Given the description of an element on the screen output the (x, y) to click on. 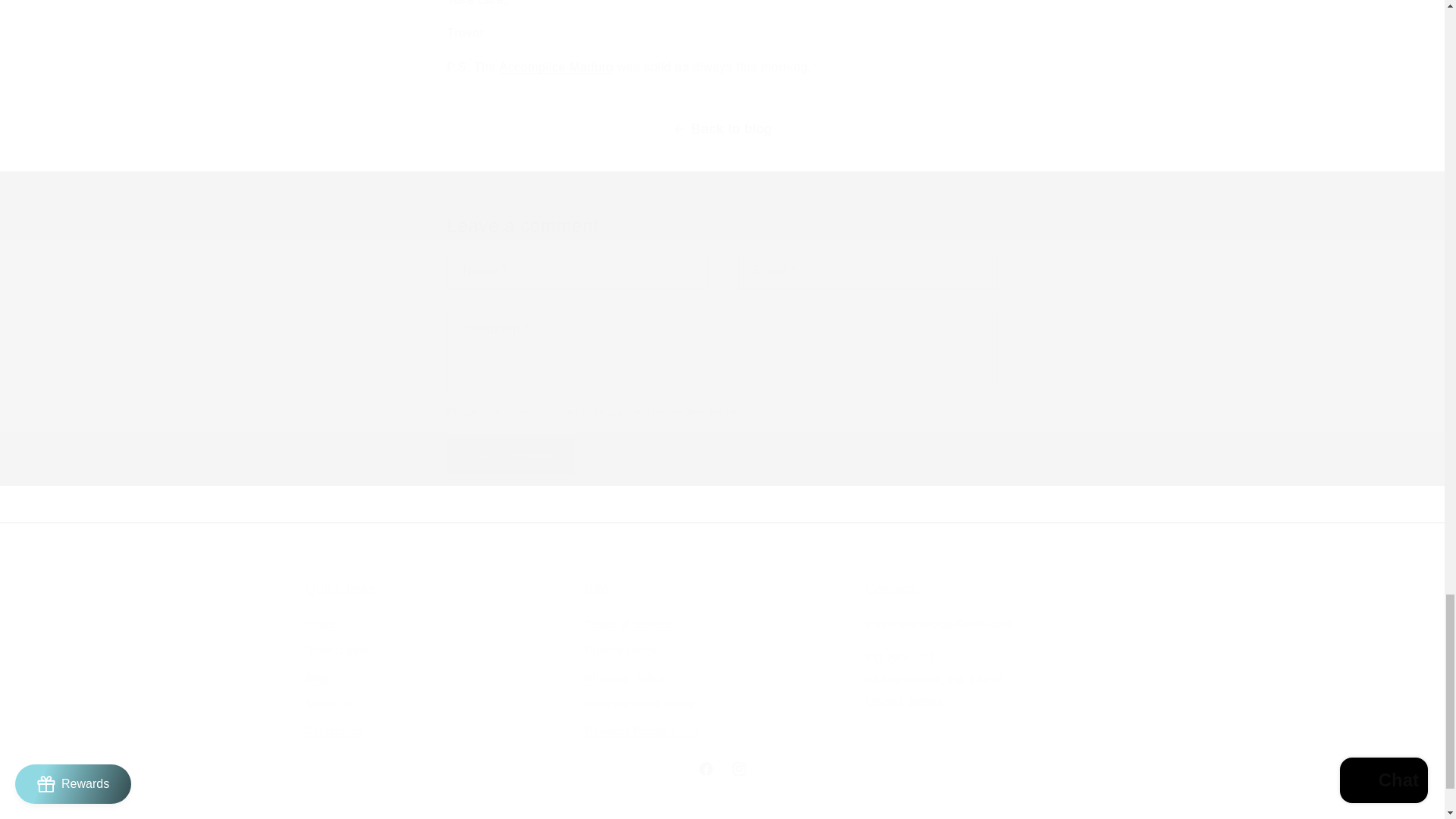
Post comment (510, 456)
